Given the description of an element on the screen output the (x, y) to click on. 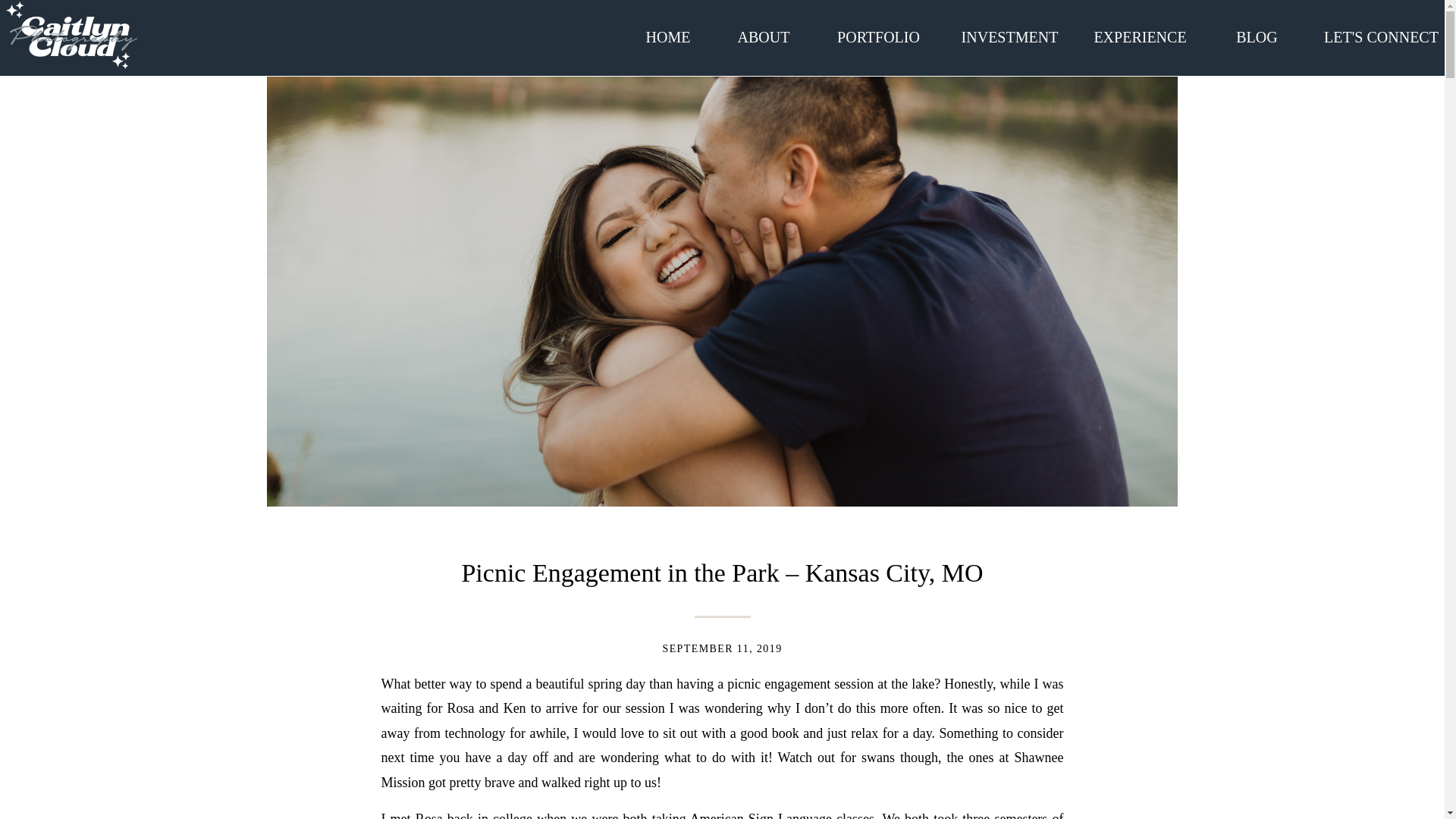
ABOUT (763, 36)
PORTFOLIO (878, 36)
HOME (667, 35)
LET'S CONNECT (1381, 36)
EXPERIENCE (1140, 37)
INVESTMENT (1009, 35)
BLOG (1256, 36)
